Given the description of an element on the screen output the (x, y) to click on. 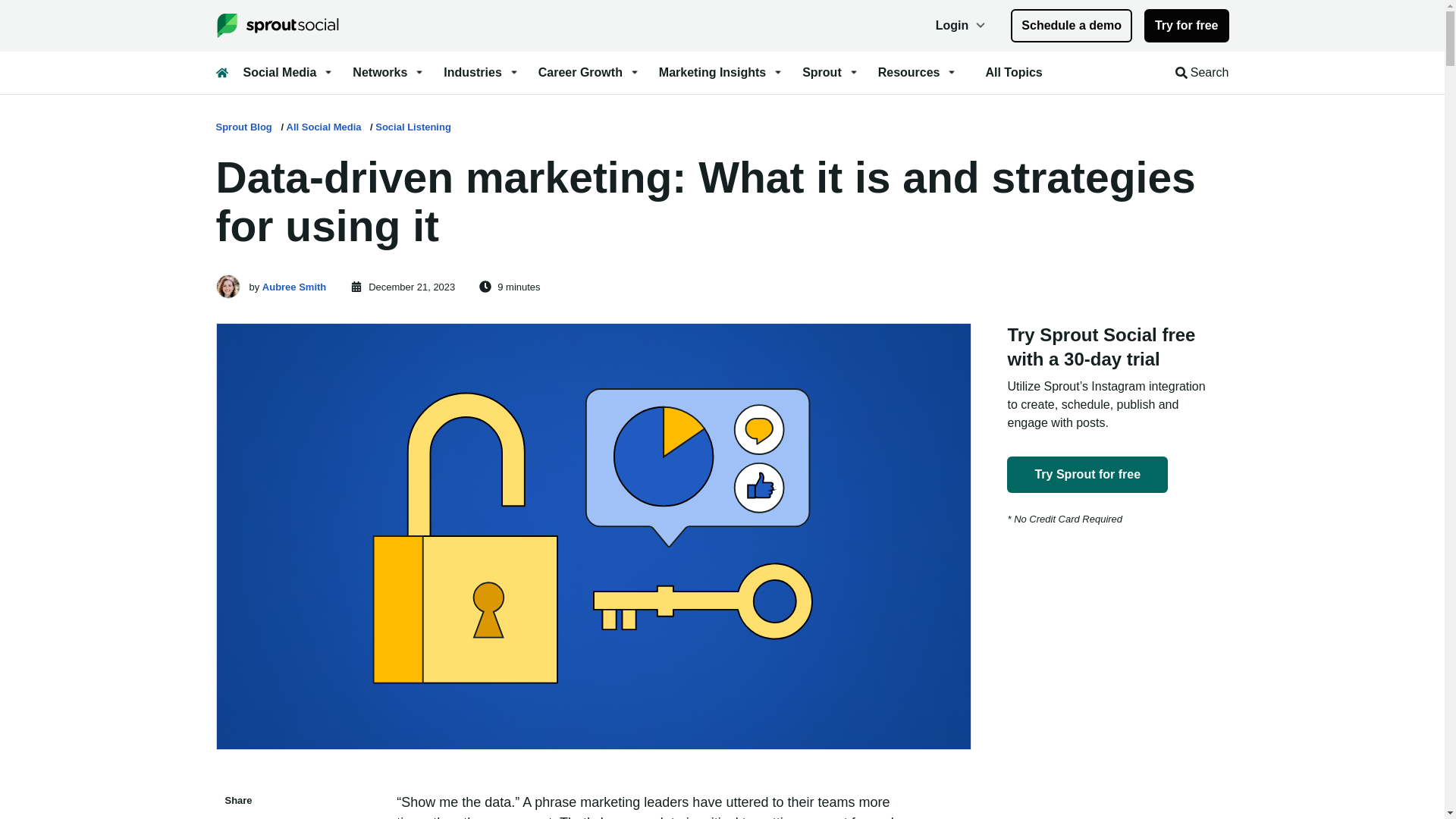
Social Media (288, 72)
Open Marketing Insights menu (721, 72)
Open Login Menu (961, 25)
Schedule a demo (1071, 25)
Open Industries menu (481, 72)
Networks (388, 72)
Open Networks menu (388, 72)
Blog Home (221, 72)
Open Career Growth menu (589, 72)
Open Sprout menu (831, 72)
